Given the description of an element on the screen output the (x, y) to click on. 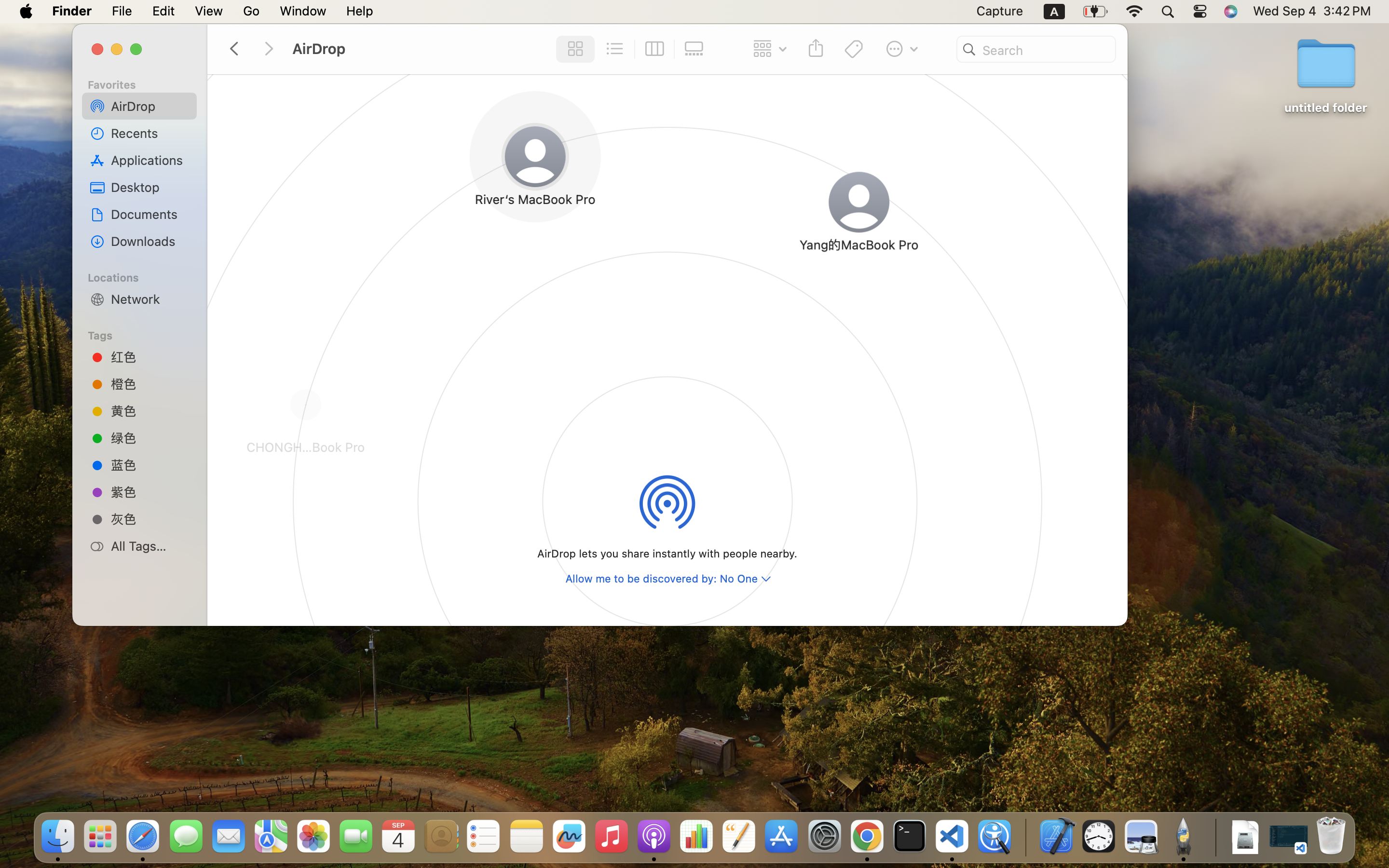
Favorites Element type: AXStaticText (144, 83)
Locations Element type: AXStaticText (144, 276)
灰色 Element type: AXStaticText (149, 518)
Yang的MacBook Pro Element type: AXStaticText (825, 204)
